Given the description of an element on the screen output the (x, y) to click on. 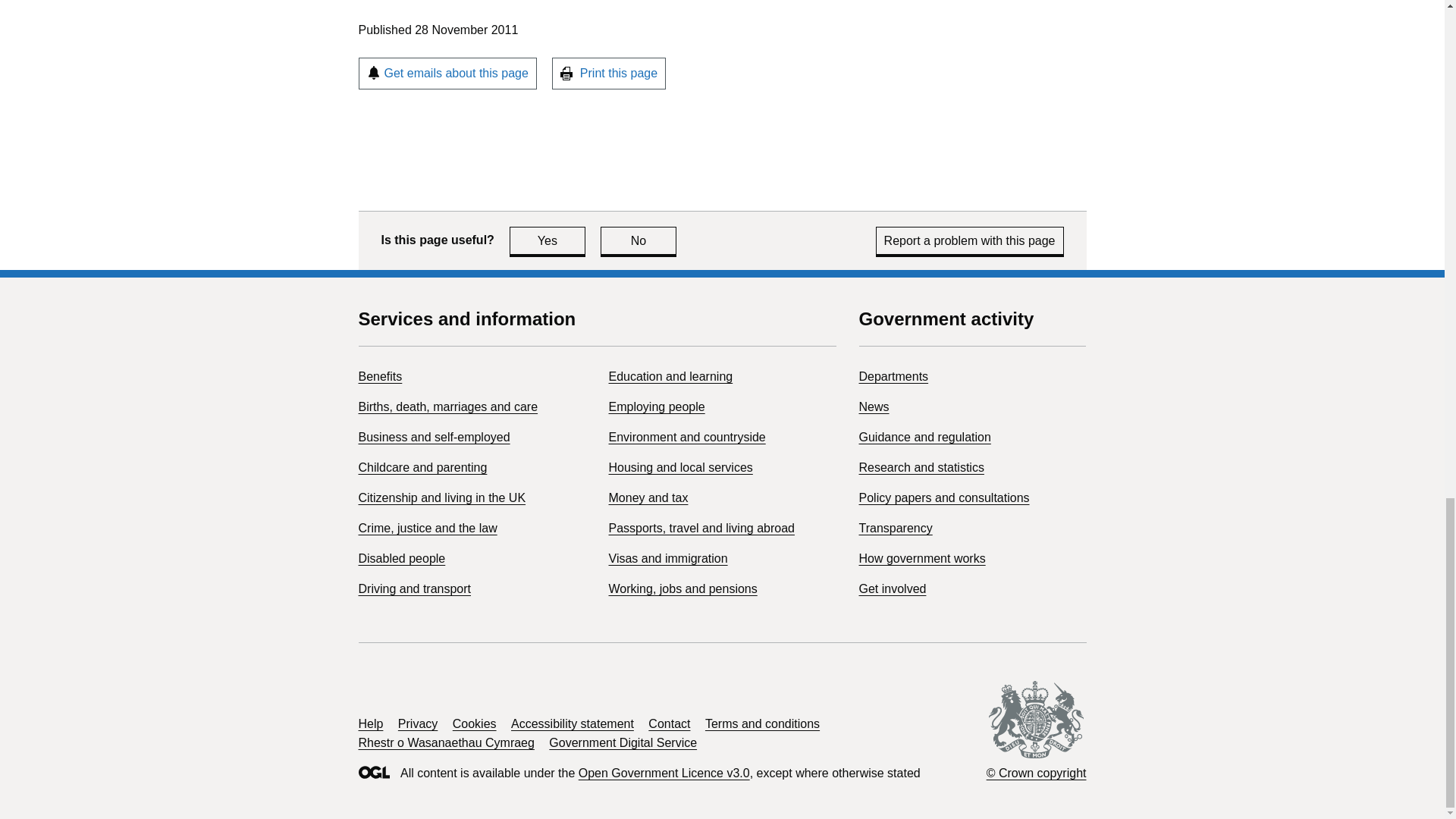
Employing people (656, 406)
Education and learning (670, 376)
Childcare and parenting (422, 467)
Visas and immigration (667, 558)
Benefits (379, 376)
Research and statistics (921, 467)
Environment and countryside (686, 436)
Policy papers and consultations (944, 497)
Get emails about this page (446, 73)
Transparency (895, 527)
